Given the description of an element on the screen output the (x, y) to click on. 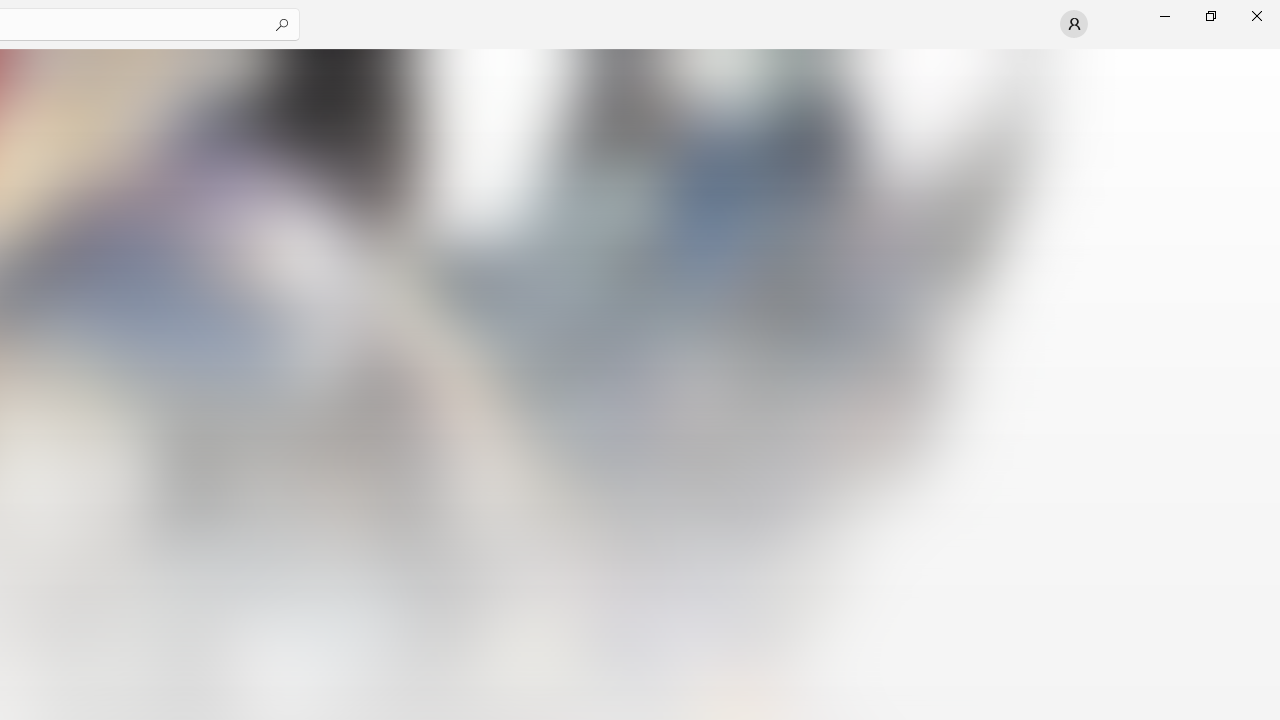
User profile (1073, 24)
Restore Microsoft Store (1210, 15)
Close Microsoft Store (1256, 15)
Minimize Microsoft Store (1164, 15)
